Given the description of an element on the screen output the (x, y) to click on. 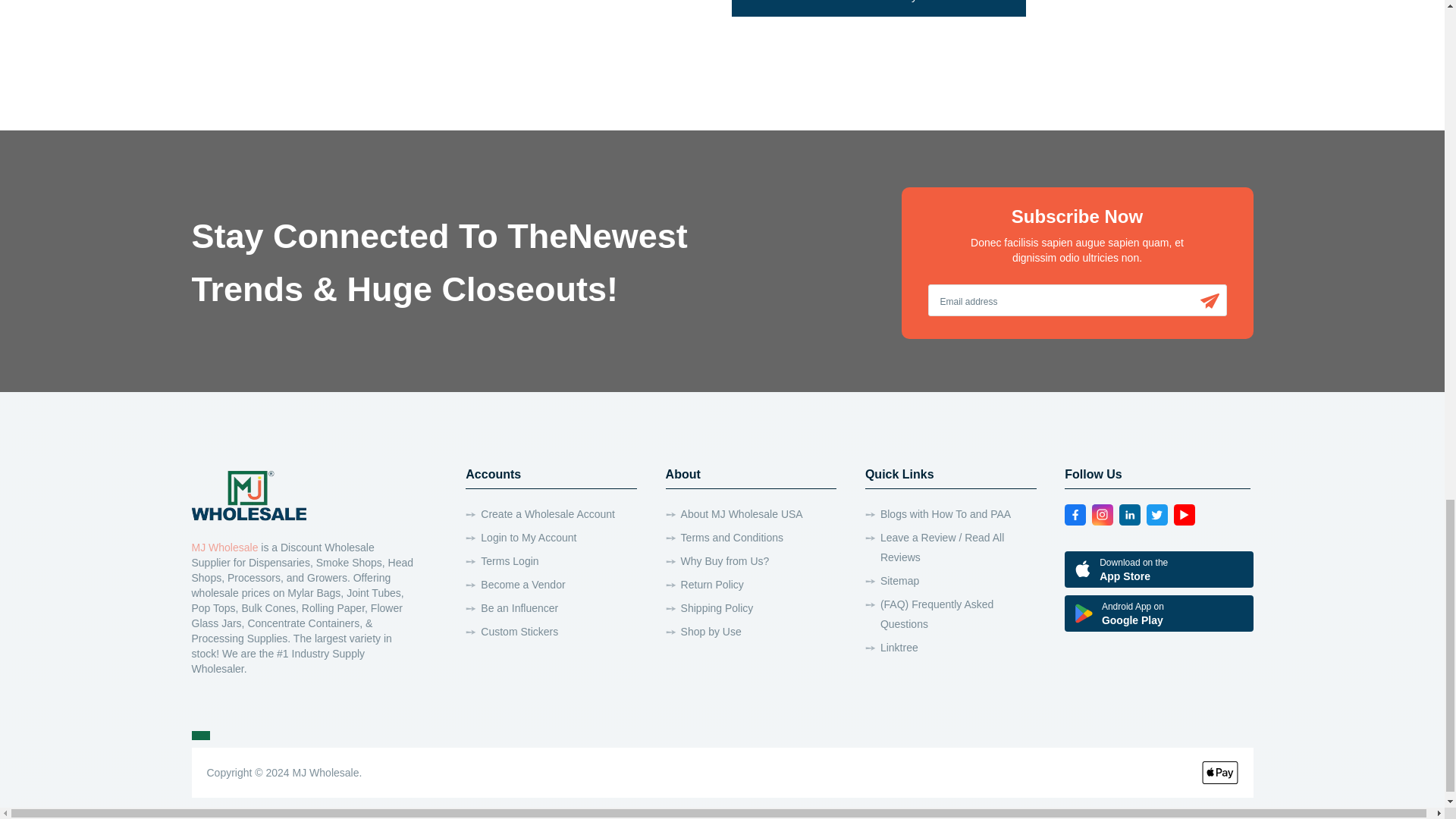
Facebook (1075, 514)
LinkedIn (1129, 514)
Twitter (1157, 514)
YouTube (1184, 514)
Instagram (1102, 514)
